Given the description of an element on the screen output the (x, y) to click on. 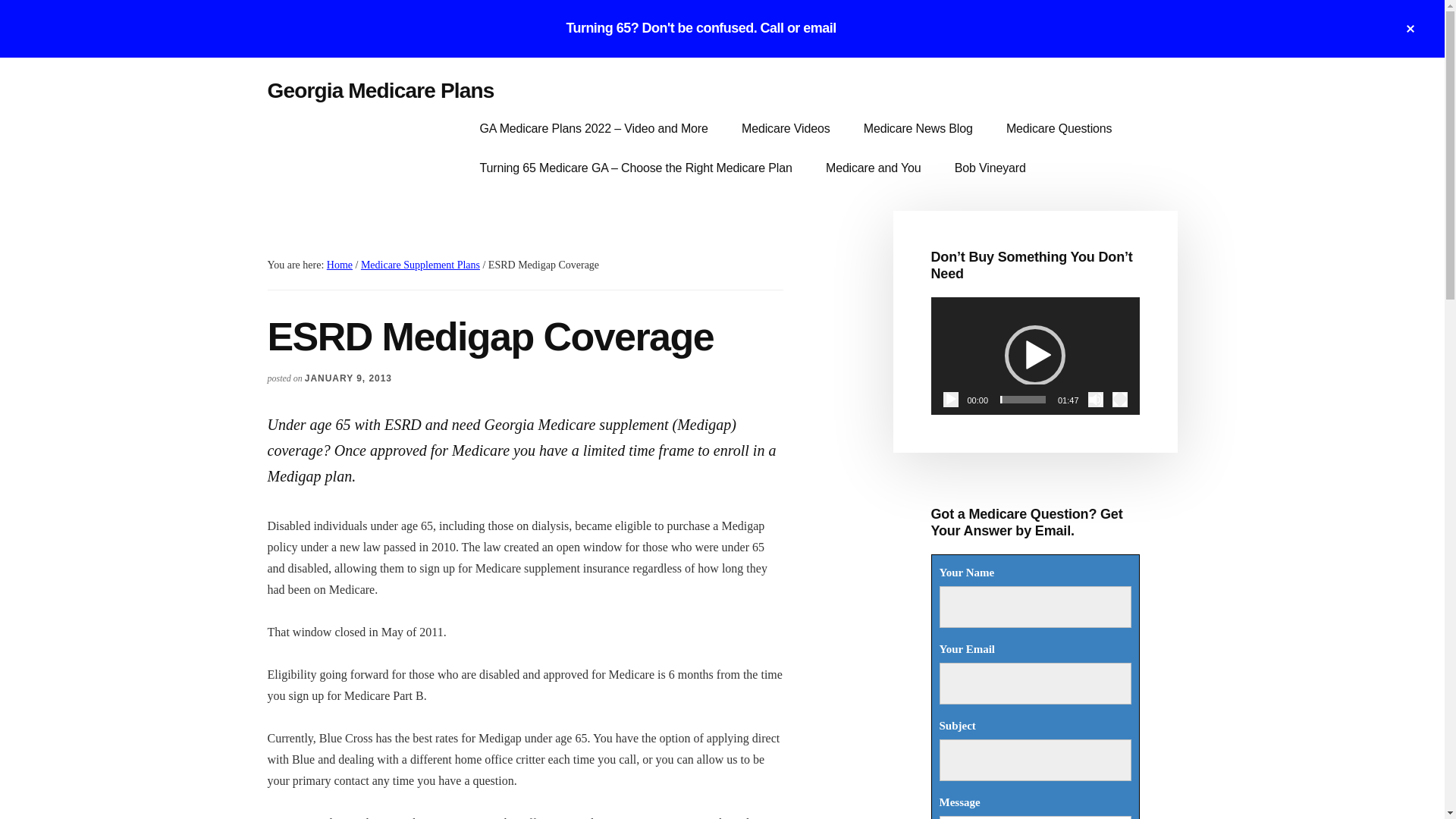
Fullscreen (1119, 399)
Medicare News Blog (918, 128)
Georgia Medicare Plans (379, 90)
Medicare Videos (785, 128)
Play (950, 399)
Medicare and You (873, 168)
Mute (1094, 399)
Medicare Questions (1058, 128)
